Given the description of an element on the screen output the (x, y) to click on. 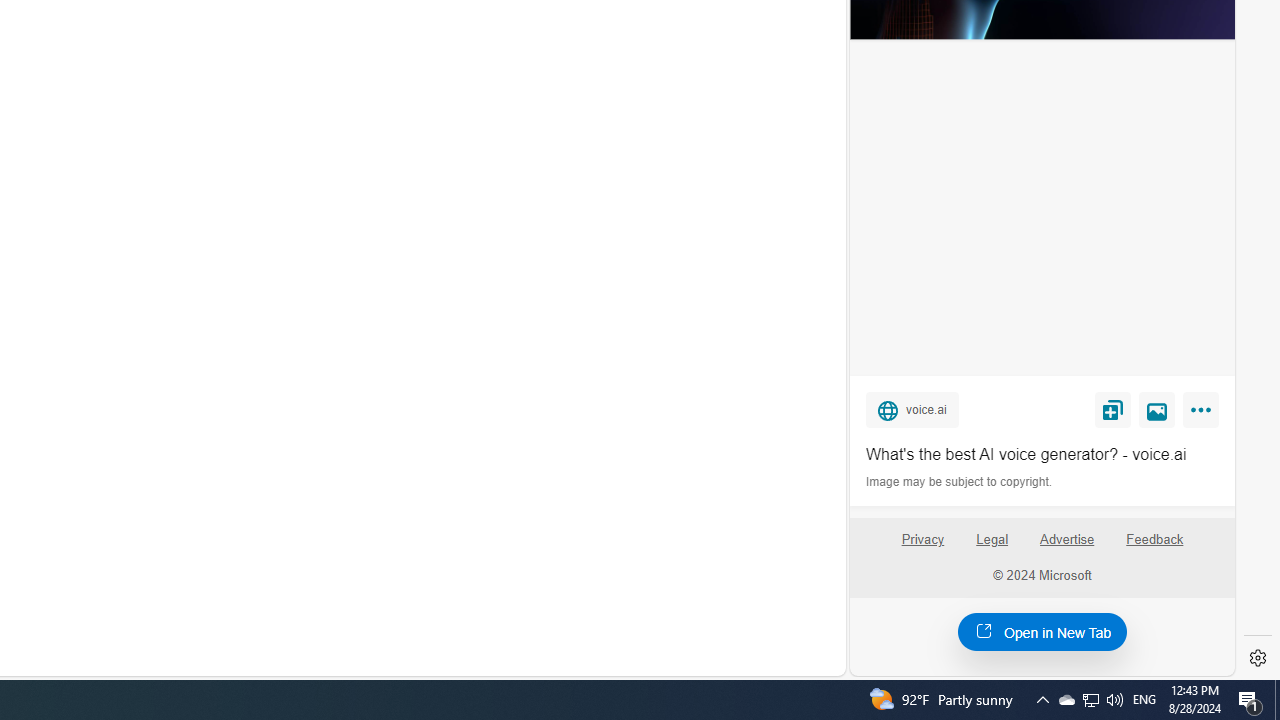
Save (1112, 409)
Legal (991, 539)
